Given the description of an element on the screen output the (x, y) to click on. 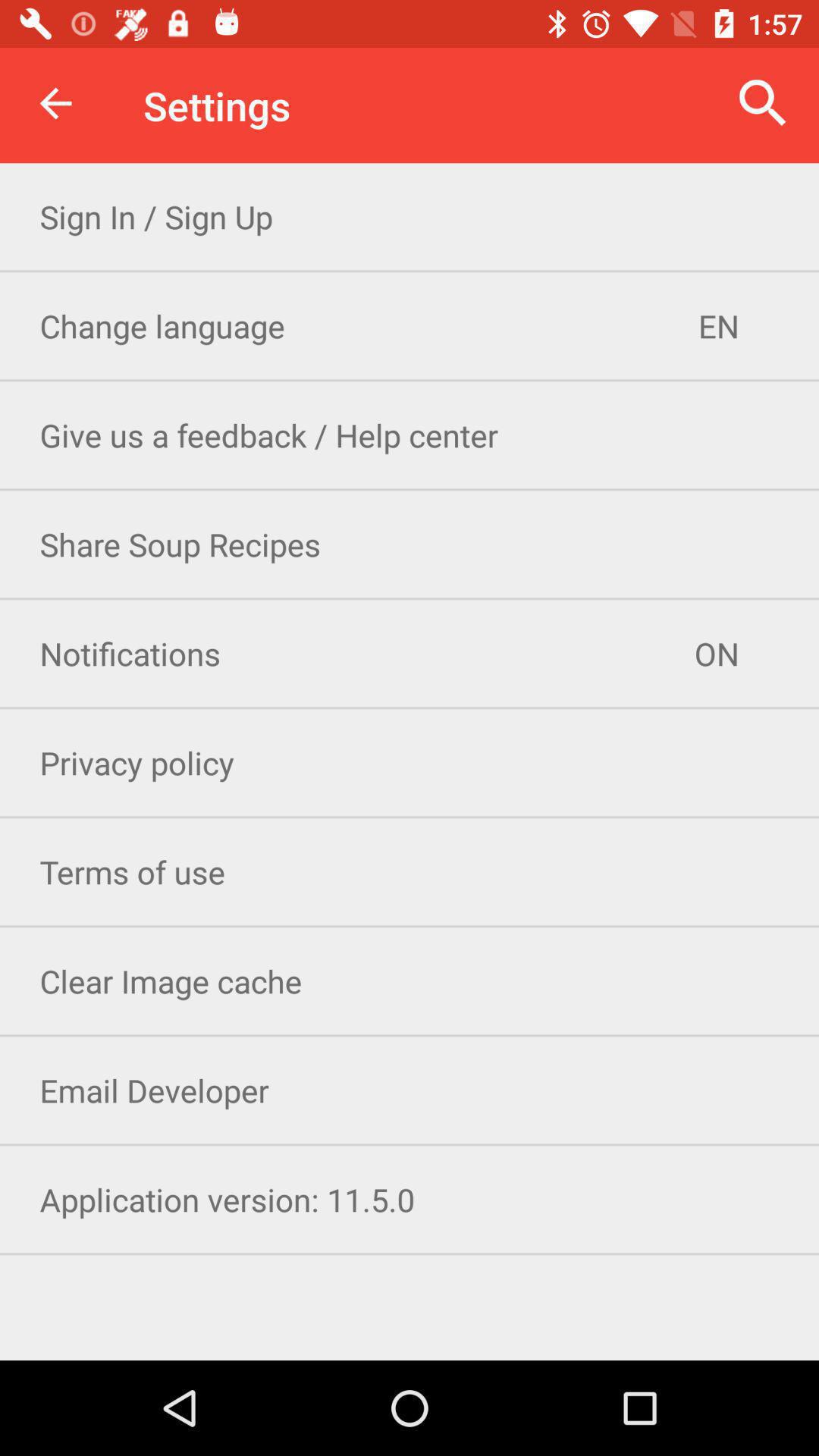
flip until share soup recipes  icon (409, 543)
